Given the description of an element on the screen output the (x, y) to click on. 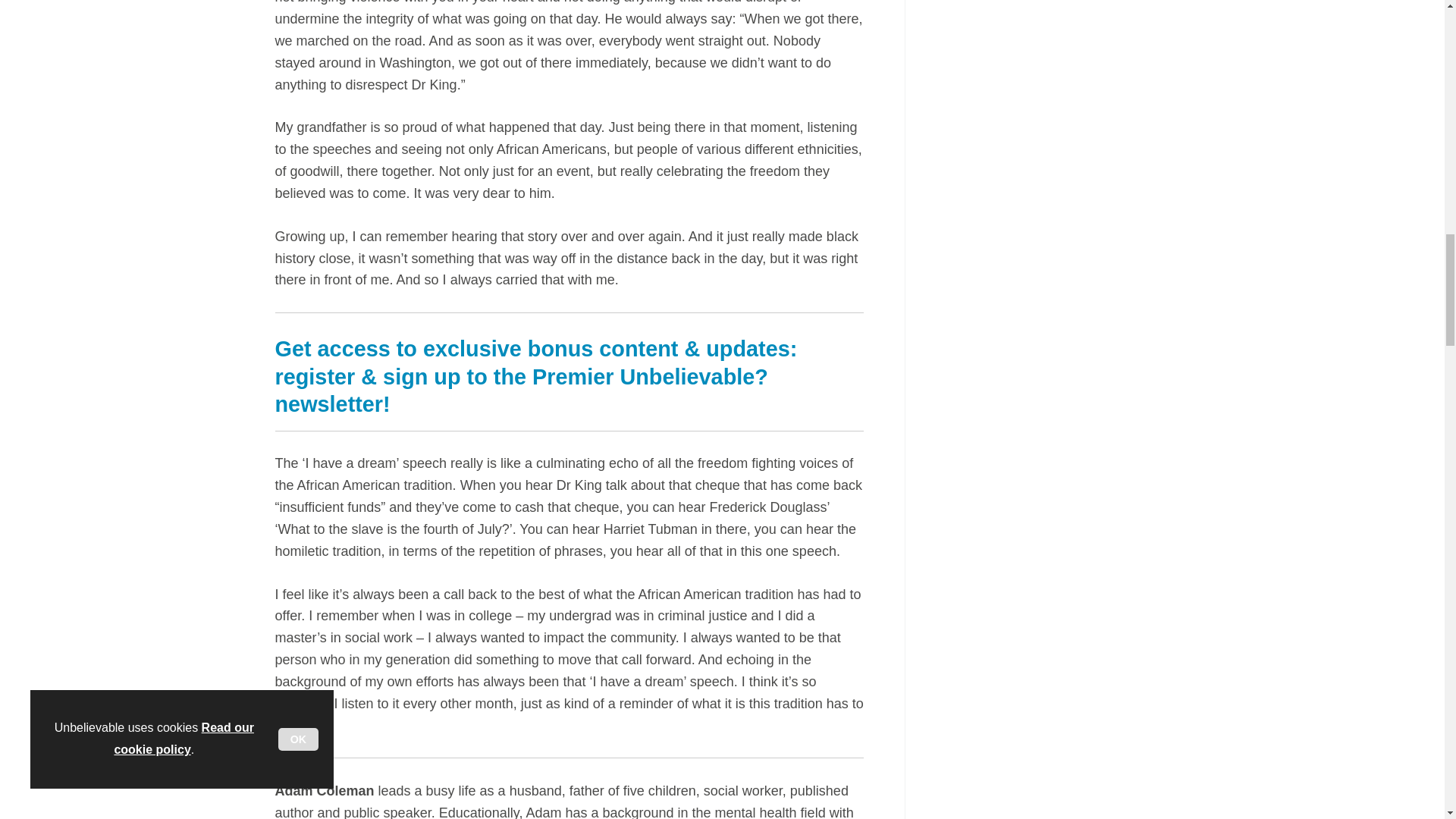
3rd party ad content (1055, 63)
